Given the description of an element on the screen output the (x, y) to click on. 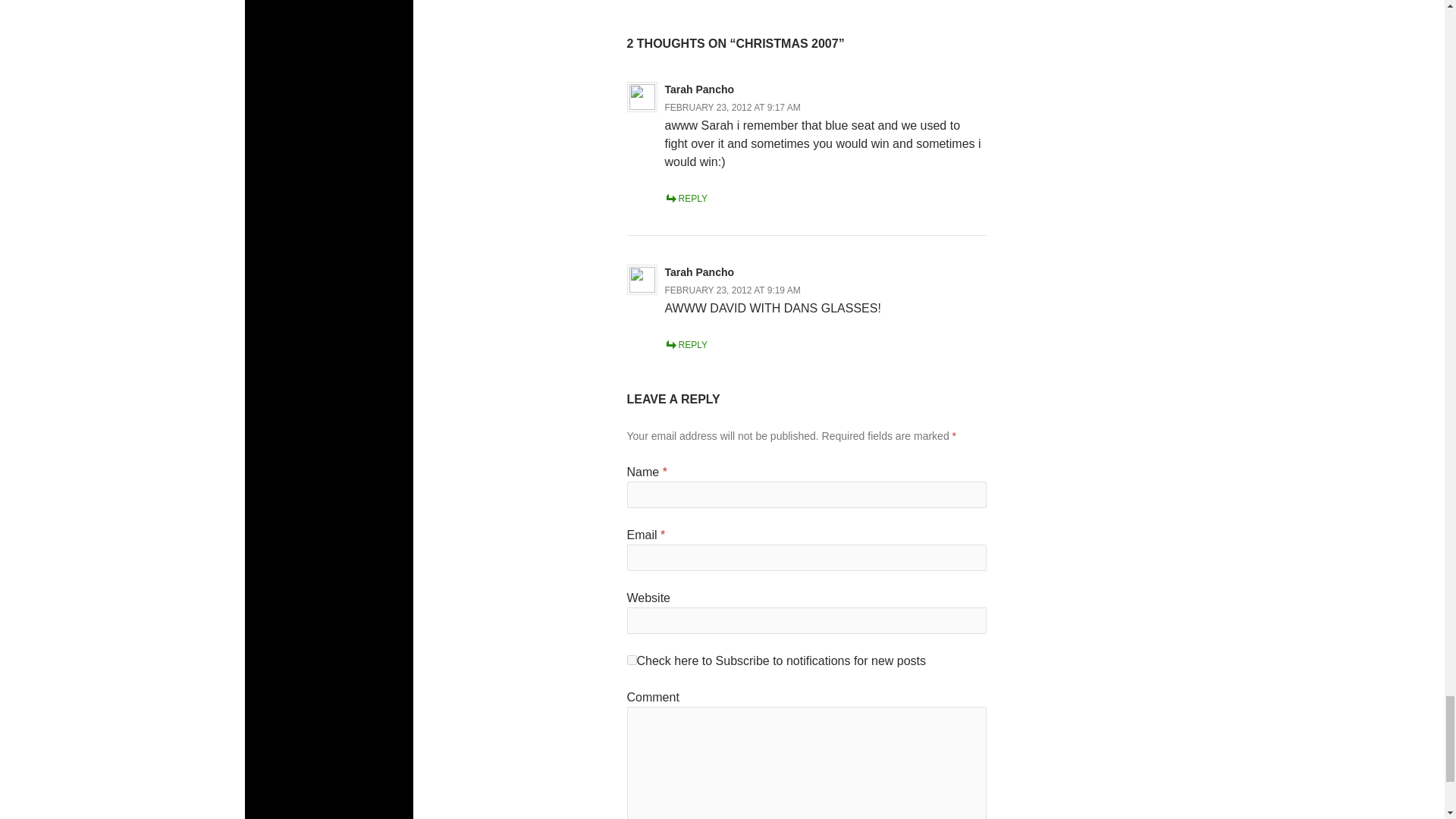
REPLY (684, 197)
Tarah Pancho (698, 89)
Tarah Pancho (698, 271)
FEBRUARY 23, 2012 AT 9:17 AM (731, 106)
FEBRUARY 23, 2012 AT 9:19 AM (731, 290)
REPLY (684, 344)
1 (631, 660)
